Given the description of an element on the screen output the (x, y) to click on. 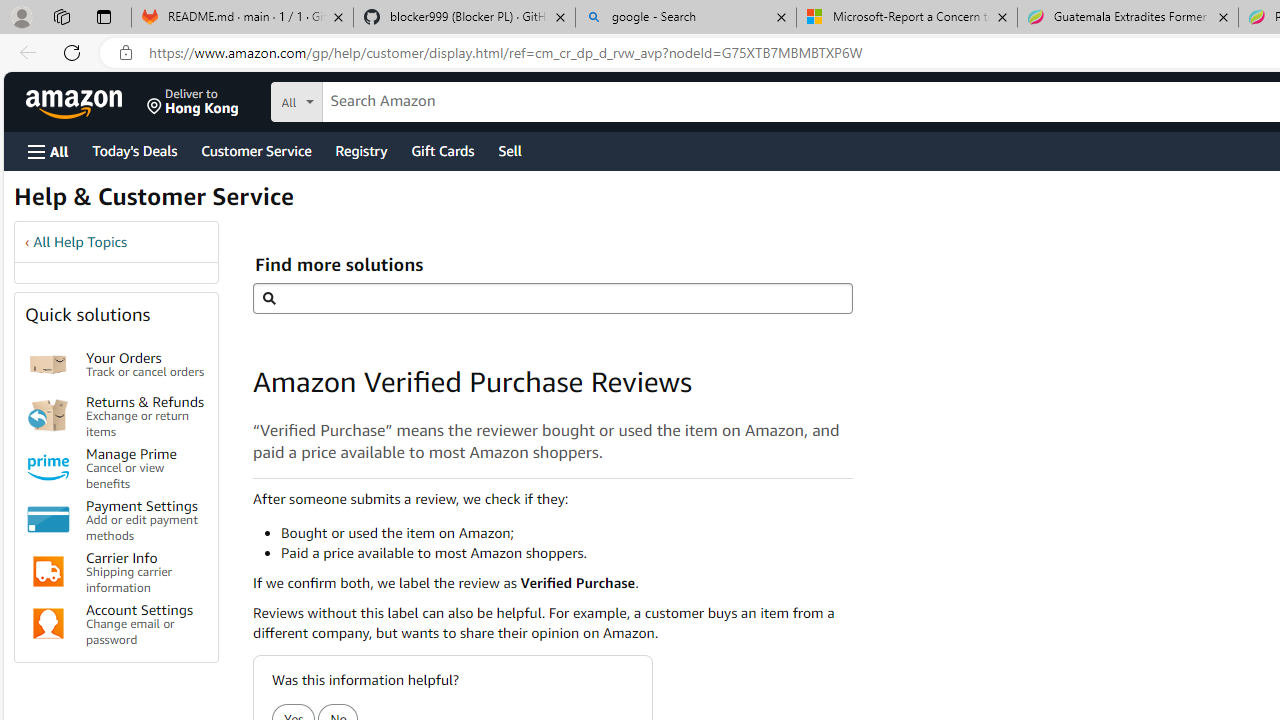
Skip to main content (86, 100)
Gift Cards (442, 150)
Your Orders Track or cancel orders (145, 363)
Payment Settings (48, 520)
Help & Customer Service (154, 201)
Account Settings Change email or password (145, 623)
Account Settings (48, 623)
Carrier Info (48, 571)
Customer Service (256, 150)
Registry (360, 150)
